Given the description of an element on the screen output the (x, y) to click on. 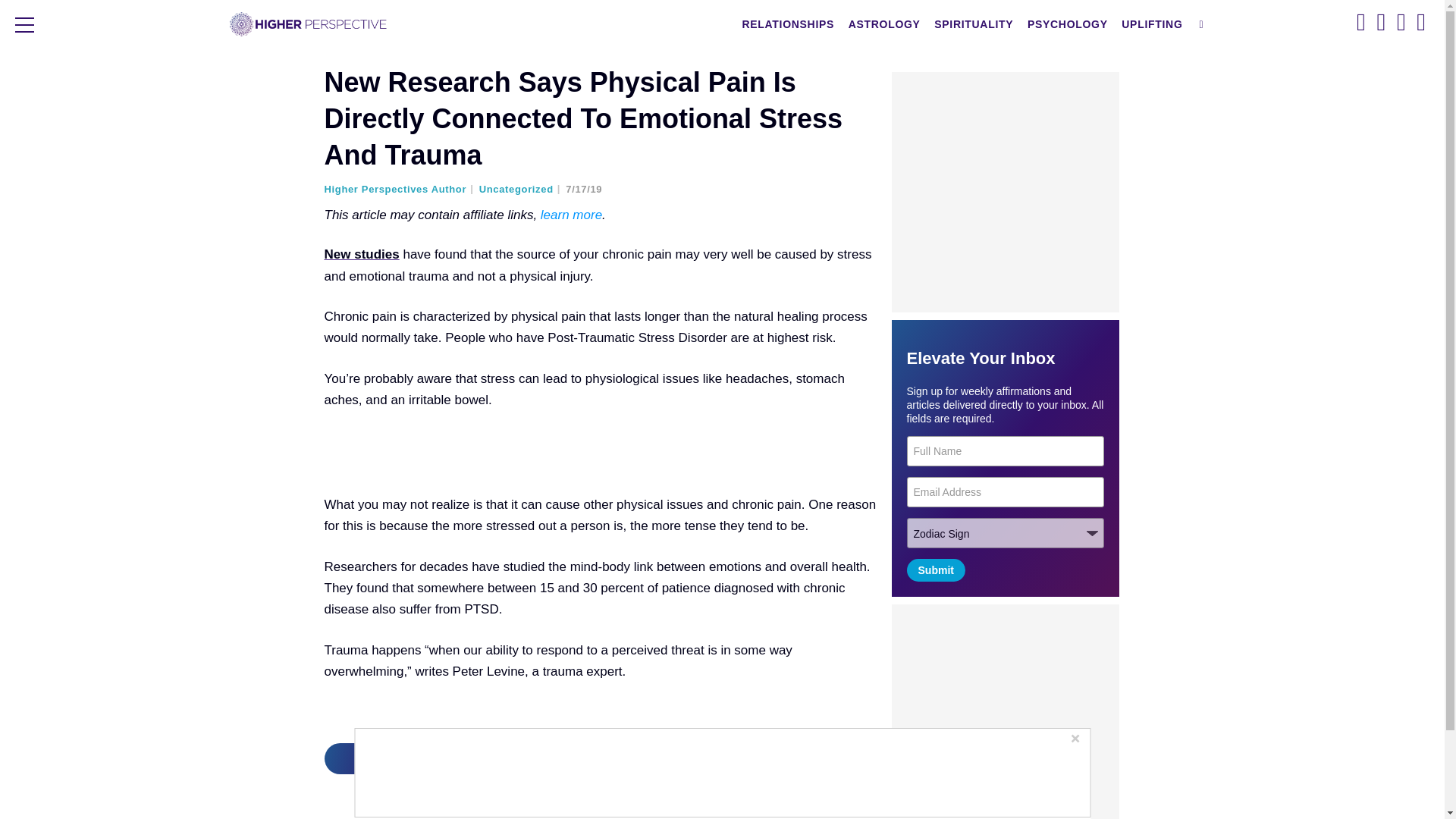
Uncategorized (520, 188)
Submit (936, 569)
Next (403, 757)
Posts by Higher Perspectives Author (400, 188)
UPLIFTING (1152, 24)
New studies (361, 254)
RELATIONSHIPS (788, 24)
PSYCHOLOGY (1067, 24)
learn more (571, 214)
Higher Perspectives Author (400, 188)
ASTROLOGY (884, 24)
SPIRITUALITY (972, 24)
